Given the description of an element on the screen output the (x, y) to click on. 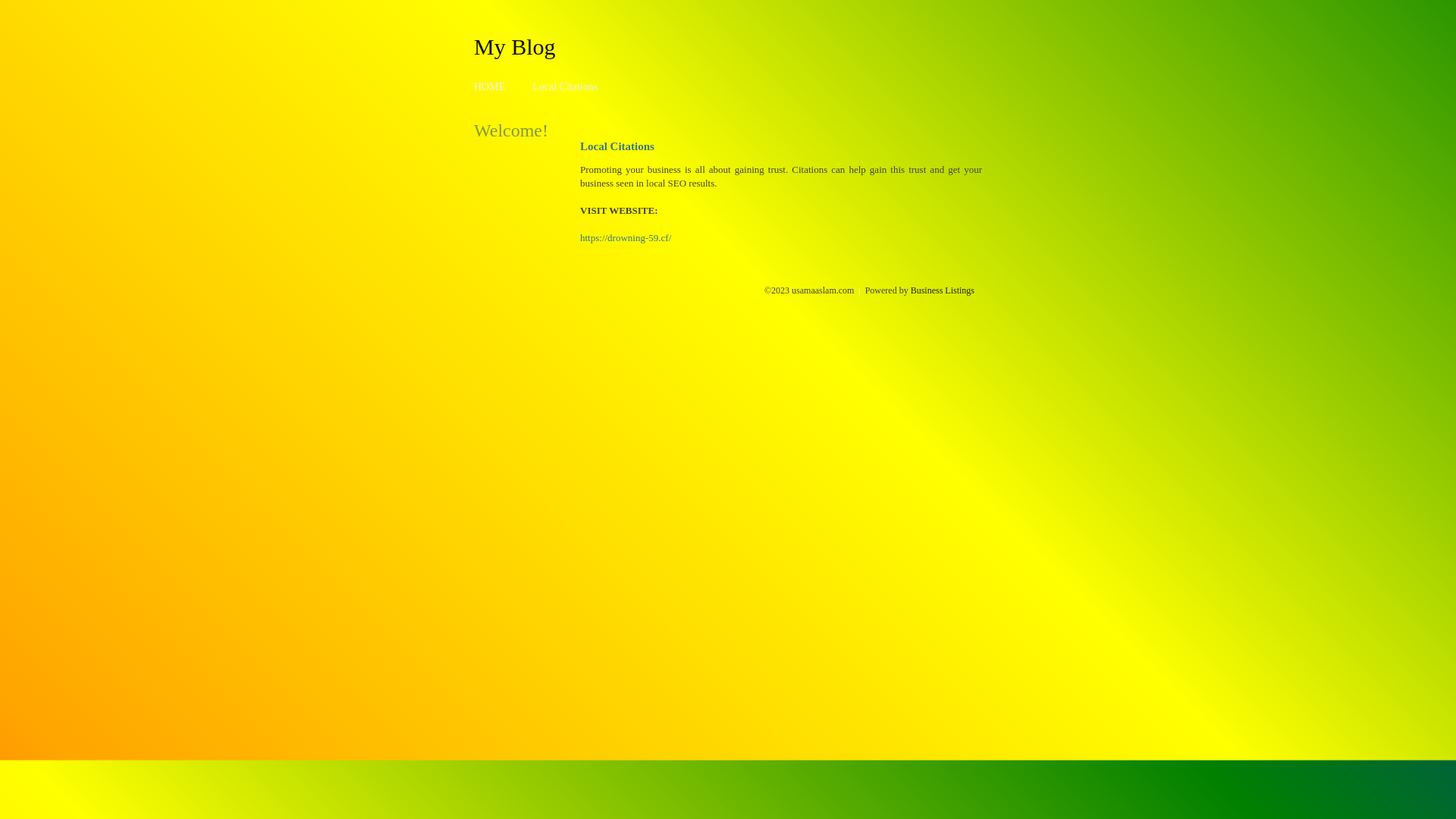
Local Citations Element type: text (564, 86)
Business Listings Element type: text (942, 290)
https://drowning-59.cf/ Element type: text (625, 237)
My Blog Element type: text (514, 46)
HOME Element type: text (489, 86)
